Given the description of an element on the screen output the (x, y) to click on. 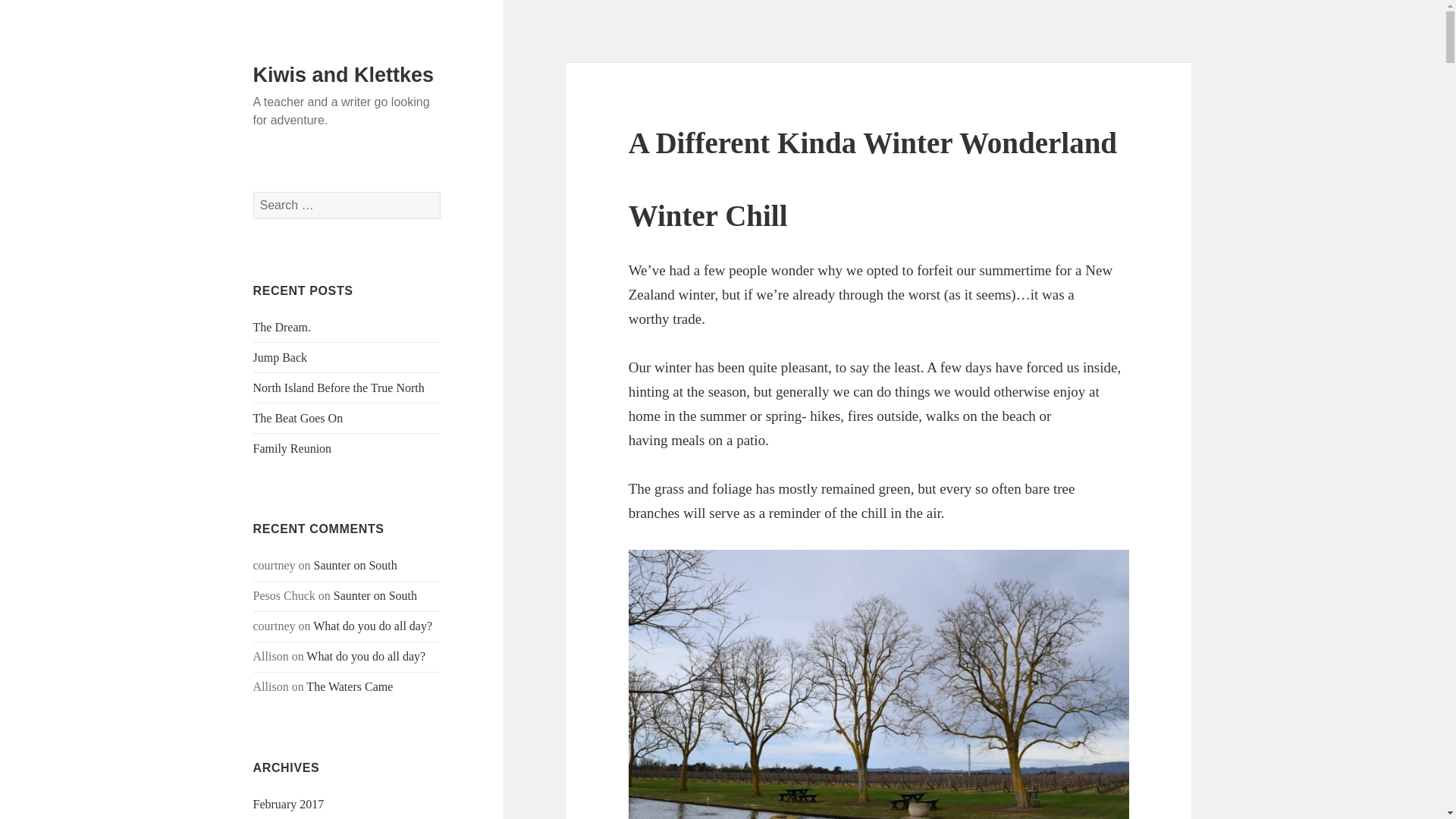
What do you do all day? (365, 656)
The Waters Came (349, 686)
Jump Back (280, 357)
North Island Before the True North (339, 387)
What do you do all day? (372, 625)
Family Reunion (292, 448)
February 2017 (288, 803)
The Beat Goes On (298, 418)
The Dream. (282, 327)
Saunter on South (355, 564)
Saunter on South (374, 594)
Kiwis and Klettkes (343, 74)
